Given the description of an element on the screen output the (x, y) to click on. 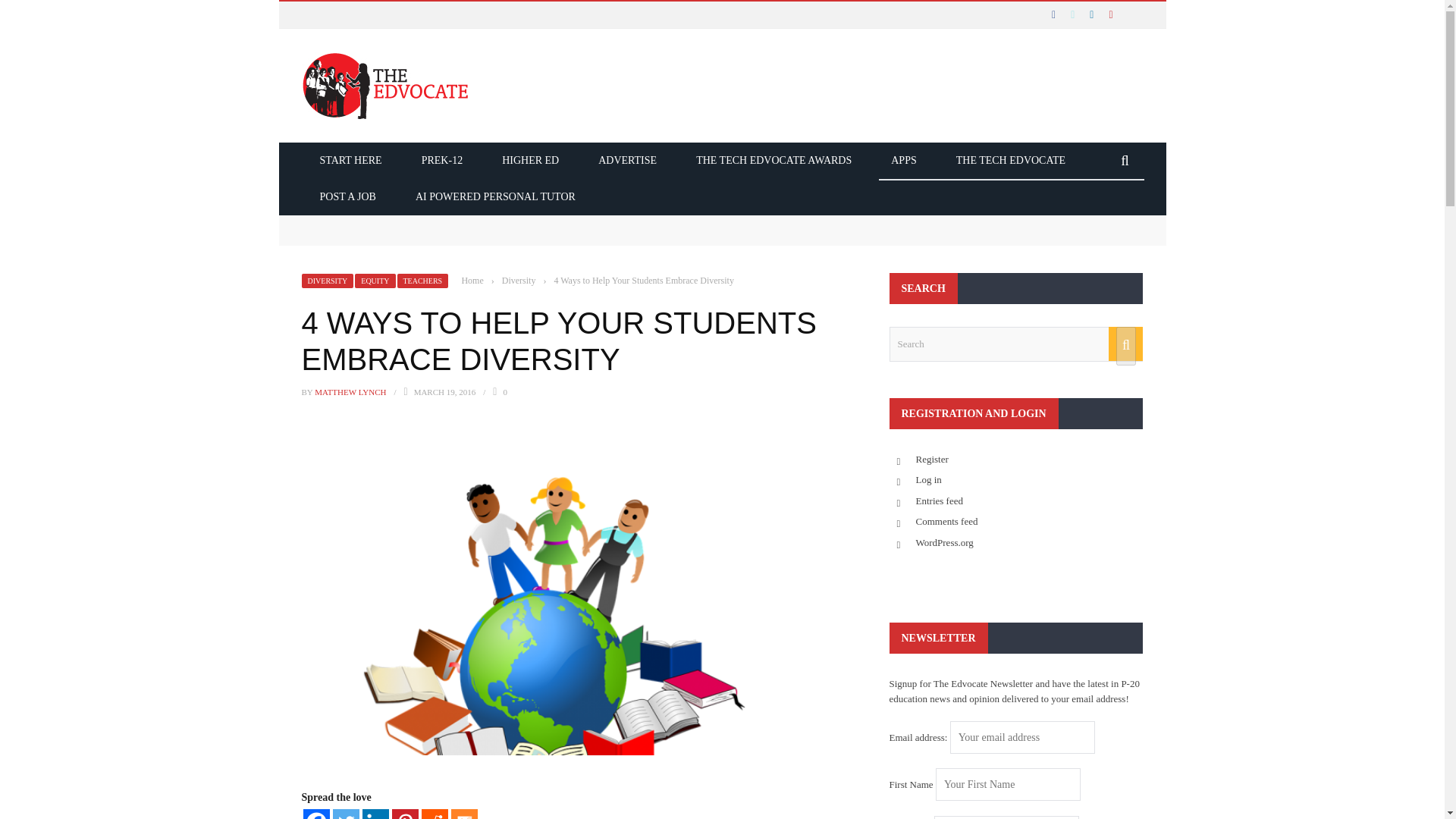
Search (1015, 343)
Twitter (344, 814)
Pinterest (404, 814)
Reddit (435, 814)
Linkedin (375, 814)
Mix (463, 814)
Facebook (316, 814)
